Given the description of an element on the screen output the (x, y) to click on. 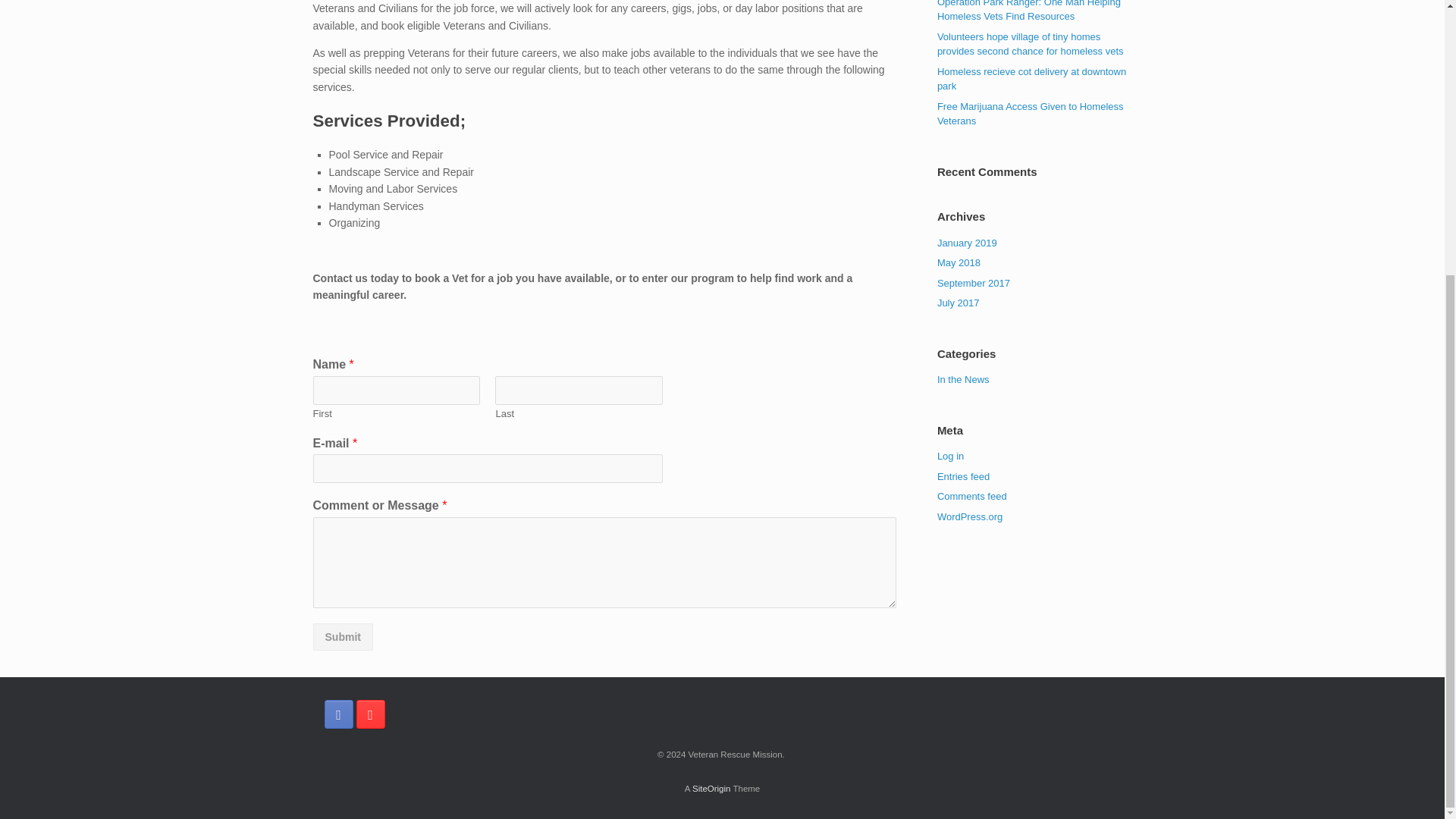
Submit (342, 636)
January 2019 (967, 242)
In the News (963, 378)
Free Marijuana Access Given to Homeless Veterans (1030, 112)
Homeless recieve cot delivery at downtown park (1031, 78)
Log in (950, 455)
September 2017 (973, 283)
Veteran Rescue Mission YouTube (370, 714)
